Given the description of an element on the screen output the (x, y) to click on. 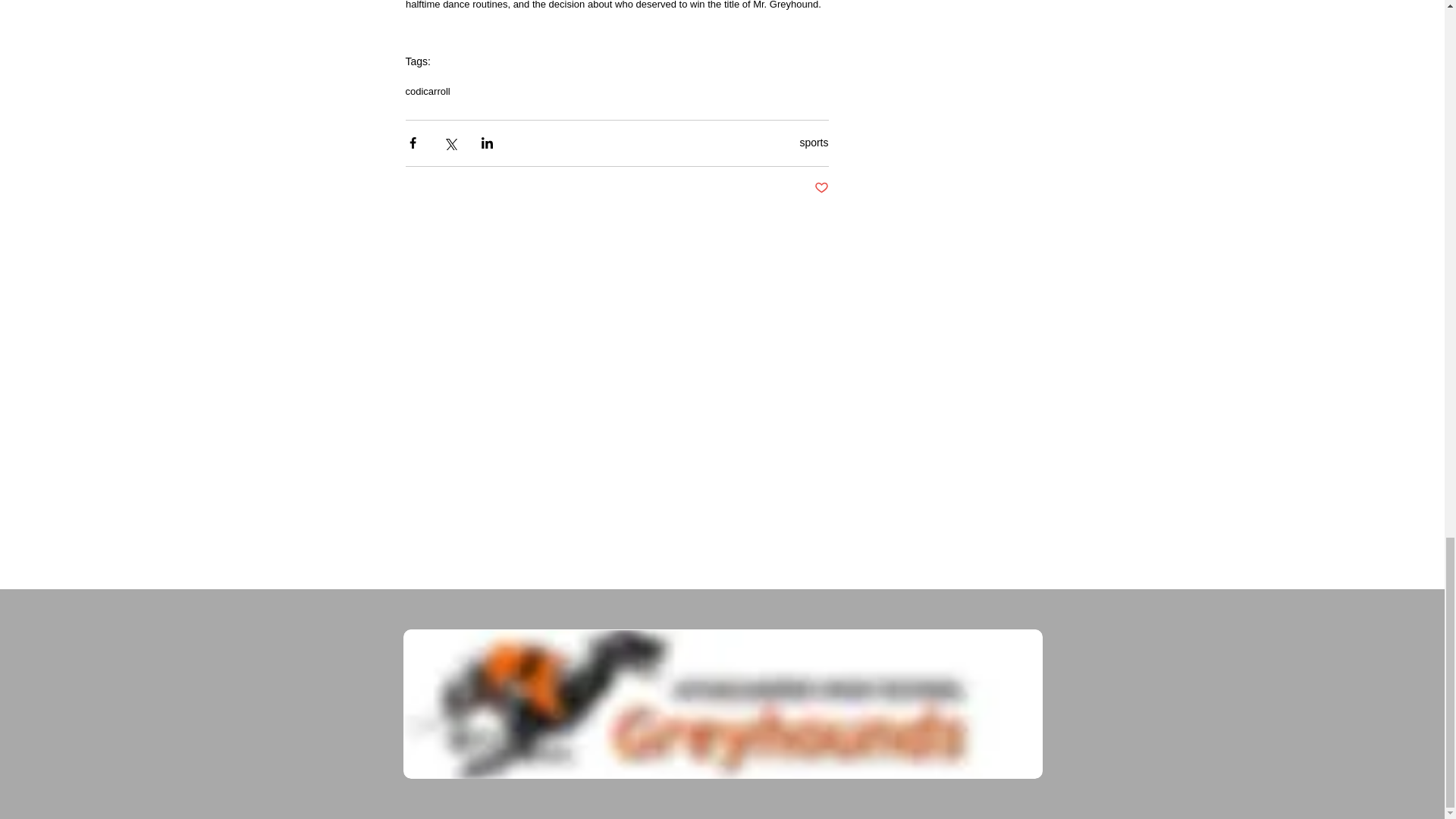
codicarroll (426, 91)
Post not marked as liked (820, 188)
sports (813, 142)
